Given the description of an element on the screen output the (x, y) to click on. 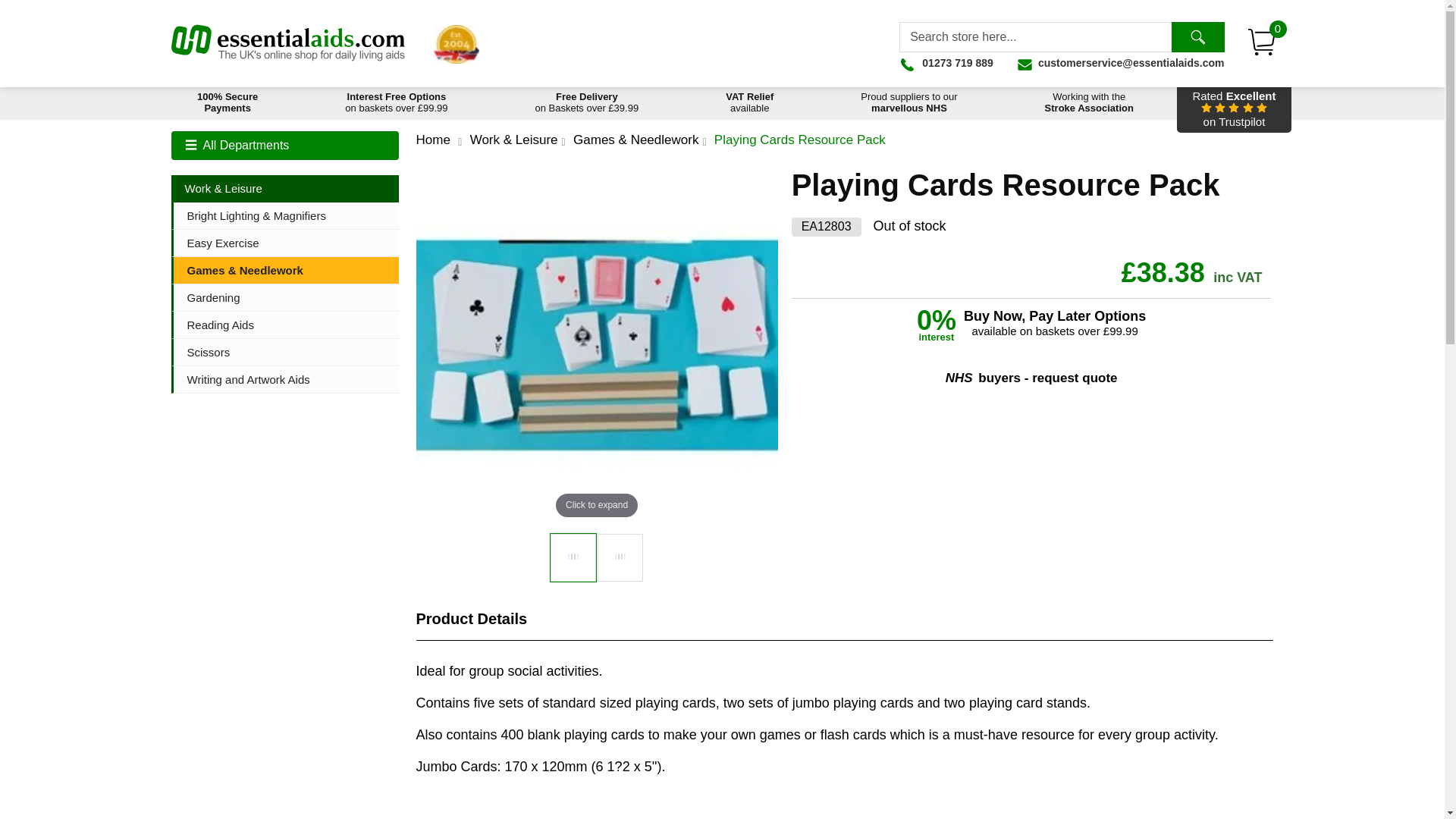
2004 est (456, 44)
Playing Cards Resource Pack (619, 557)
Playing Cards Resource Pack (572, 557)
0 (1262, 43)
01273 719 889 (1233, 109)
Your Basket (945, 62)
Search (1262, 43)
4.9 out of 5 (1197, 37)
Go to Home Page (1233, 109)
